Given the description of an element on the screen output the (x, y) to click on. 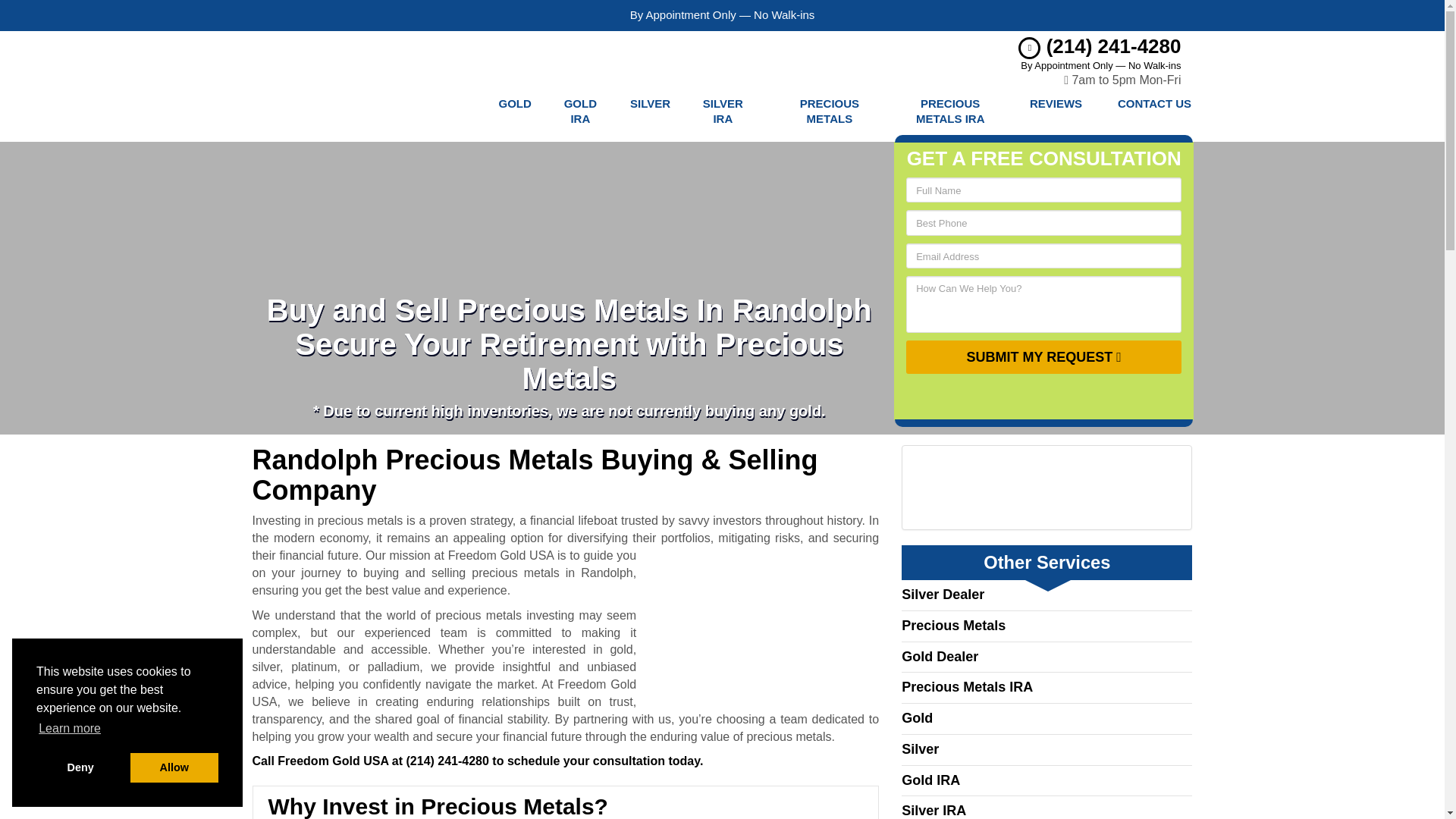
Allow (174, 767)
Silver Dealer (942, 594)
SUBMIT MY REQUEST (1042, 356)
Silver IRA (723, 111)
PRECIOUS METALS (829, 111)
Precious Metals (953, 625)
Gold (513, 111)
Precious Metals (829, 111)
Reviews (1056, 111)
Deny (79, 767)
Precious Metals IRA (950, 111)
PRECIOUS METALS IRA (950, 111)
SILVER (649, 111)
Contact Us (1154, 111)
Silver (649, 111)
